Given the description of an element on the screen output the (x, y) to click on. 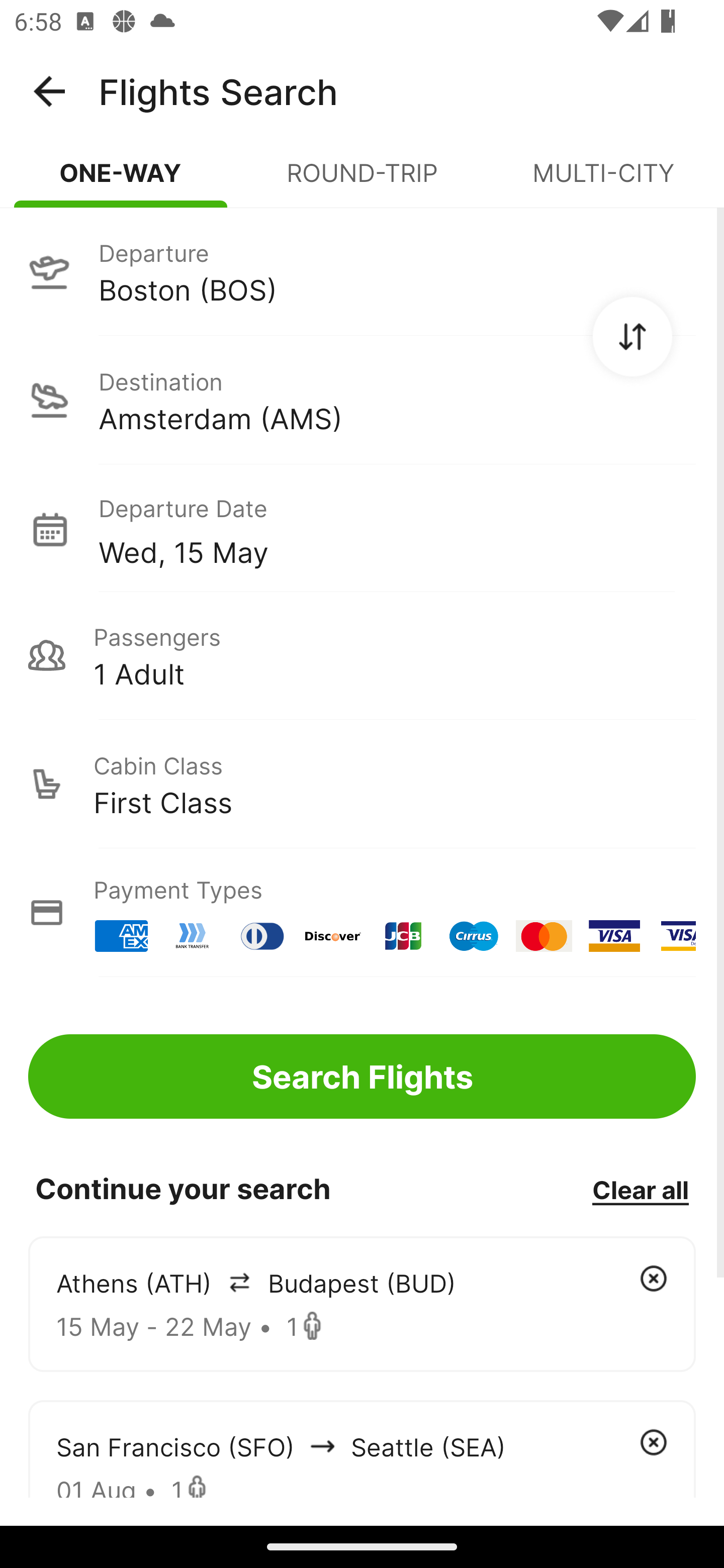
ONE-WAY (120, 180)
ROUND-TRIP (361, 180)
MULTI-CITY (603, 180)
Departure Boston (BOS) (362, 270)
Destination Amsterdam (AMS) (362, 400)
Departure Date Wed, 15 May (396, 528)
Passengers 1 Adult (362, 655)
Cabin Class First Class (362, 783)
Payment Types (362, 912)
Search Flights (361, 1075)
Clear all (640, 1189)
